Given the description of an element on the screen output the (x, y) to click on. 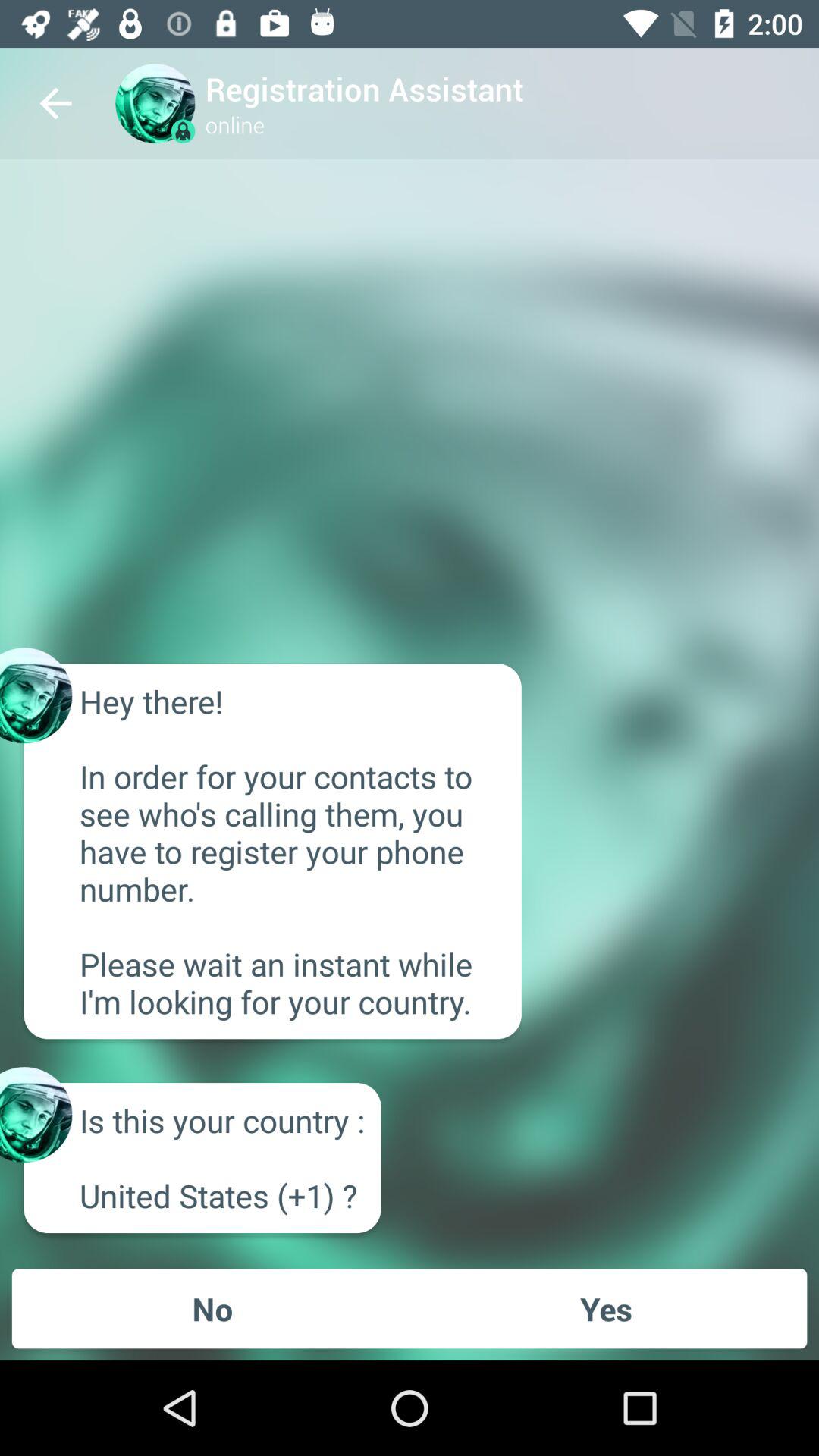
turn on the item to the left of yes icon (212, 1308)
